Given the description of an element on the screen output the (x, y) to click on. 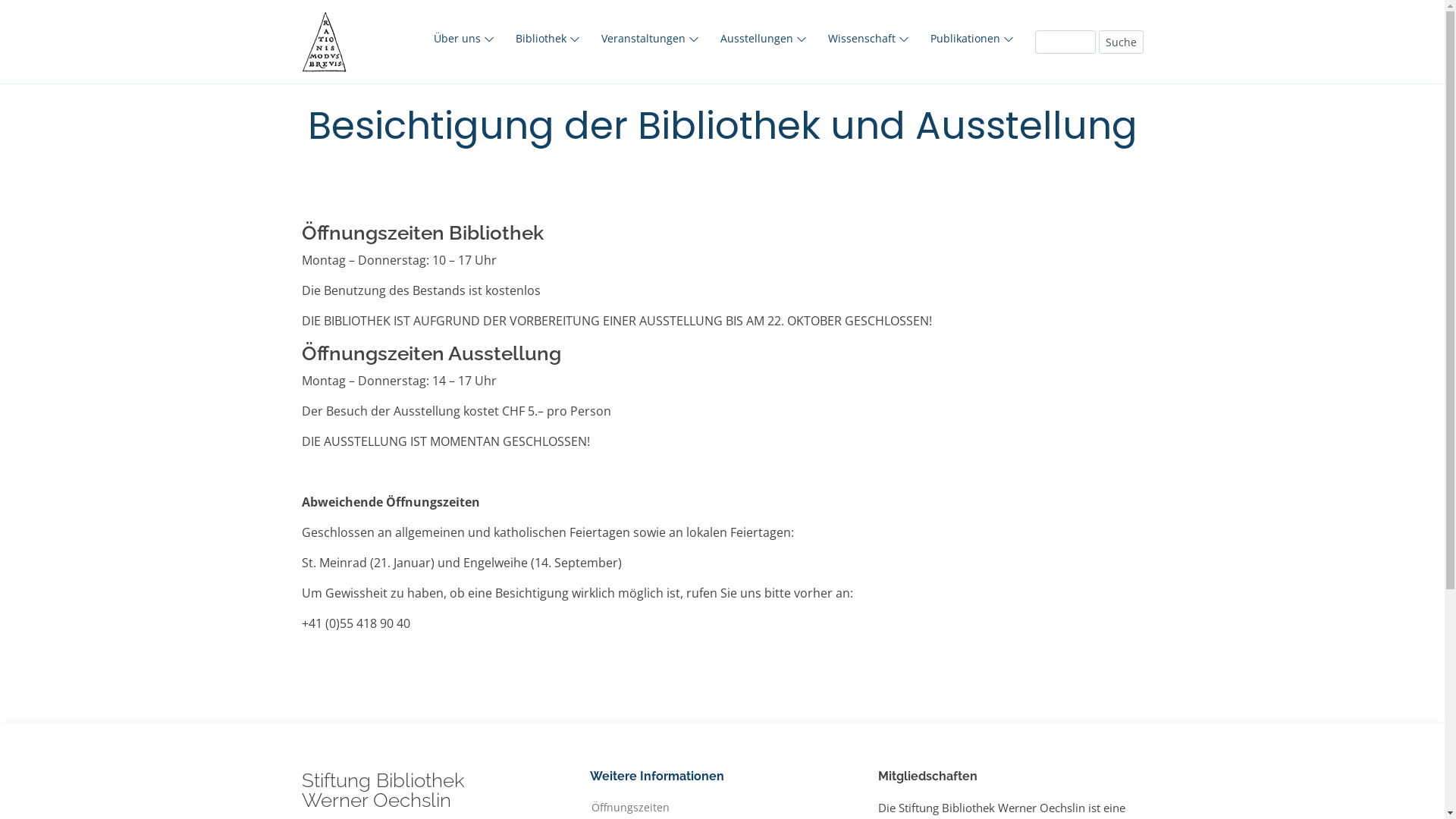
Bibliothek  Element type: text (547, 38)
Suche Element type: text (1120, 41)
Publikationen  Element type: text (971, 38)
Veranstaltungen  Element type: text (649, 38)
Wissenschaft  Element type: text (868, 38)
Ausstellungen  Element type: text (763, 38)
